Given the description of an element on the screen output the (x, y) to click on. 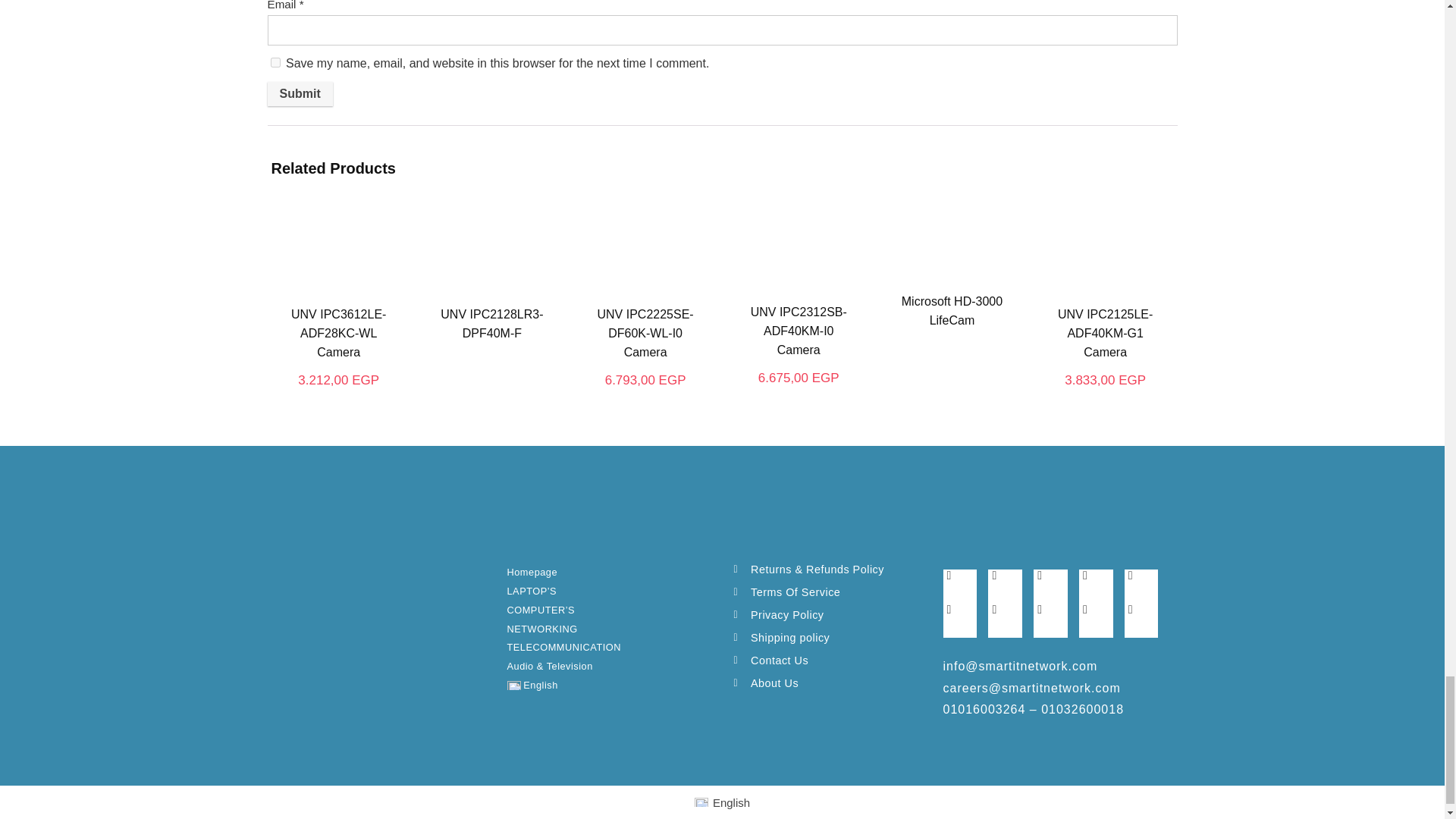
English (591, 685)
yes (274, 62)
Submit (298, 93)
